Given the description of an element on the screen output the (x, y) to click on. 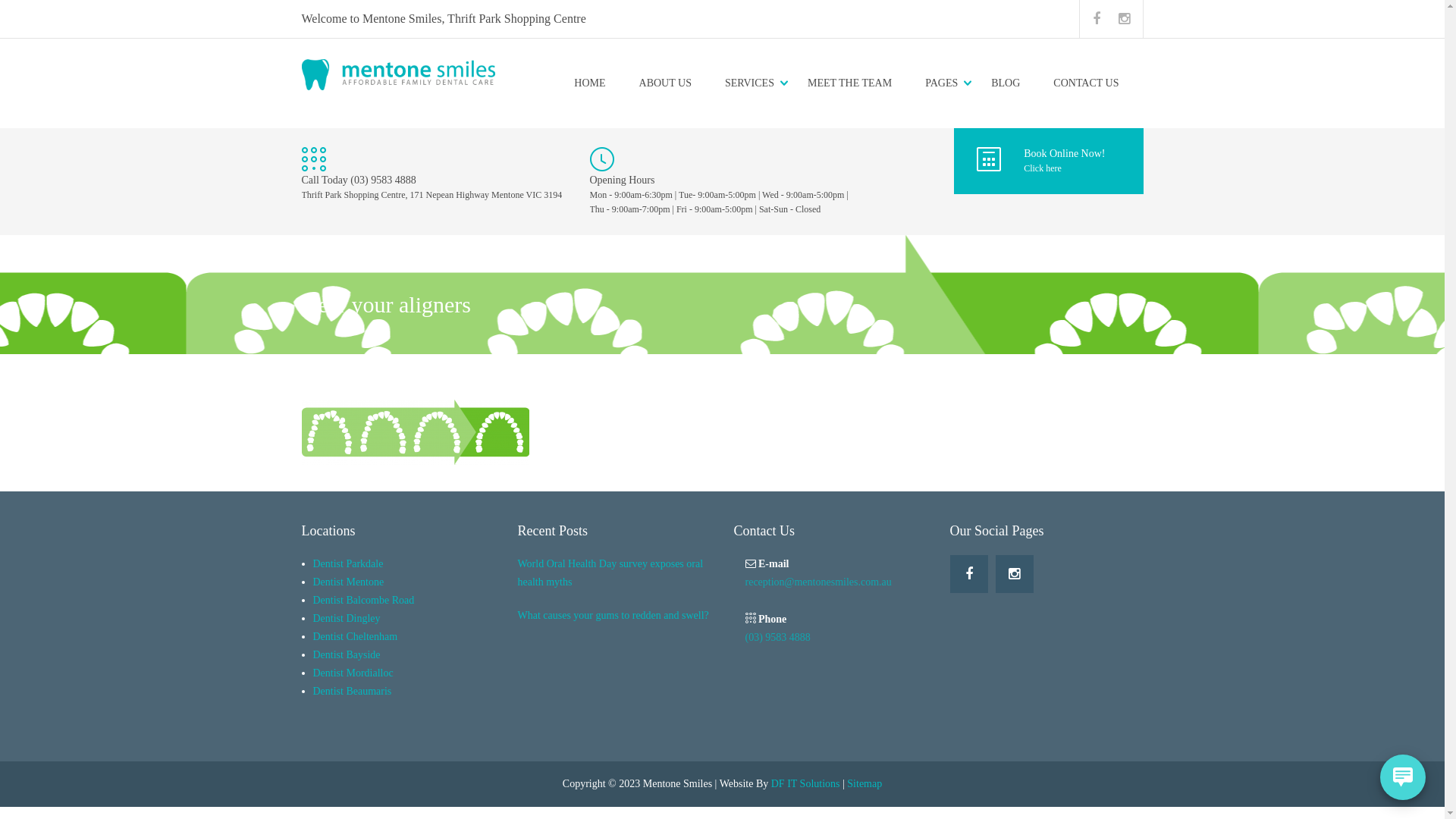
DF IT Solutions Element type: text (805, 783)
MEET THE TEAM Element type: text (849, 83)
ABOUT US Element type: text (665, 83)
Dentist Mordialloc Element type: text (352, 672)
Sitemap Element type: text (864, 783)
What causes your gums to redden and swell? Element type: text (613, 615)
Dentist Beaumaris Element type: text (351, 690)
MENTONE SMILES Element type: text (340, 262)
(03) 9583 4888 Element type: text (776, 637)
Dentist Dingley Element type: text (345, 618)
Dentist Cheltenham Element type: text (354, 636)
SERVICES Element type: text (749, 83)
Dentist Parkdale Element type: text (347, 563)
Dentist Mentone Element type: text (347, 581)
Dentist Bayside Element type: text (345, 654)
BLOG Element type: text (1005, 83)
CONTACT US Element type: text (1085, 83)
Dentist Balcombe Road Element type: text (363, 599)
HOME Element type: text (589, 83)
reception@mentonesmiles.com.au Element type: text (817, 581)
World Oral Health Day survey exposes oral health myths Element type: text (613, 573)
PAGES Element type: text (941, 83)
